Given the description of an element on the screen output the (x, y) to click on. 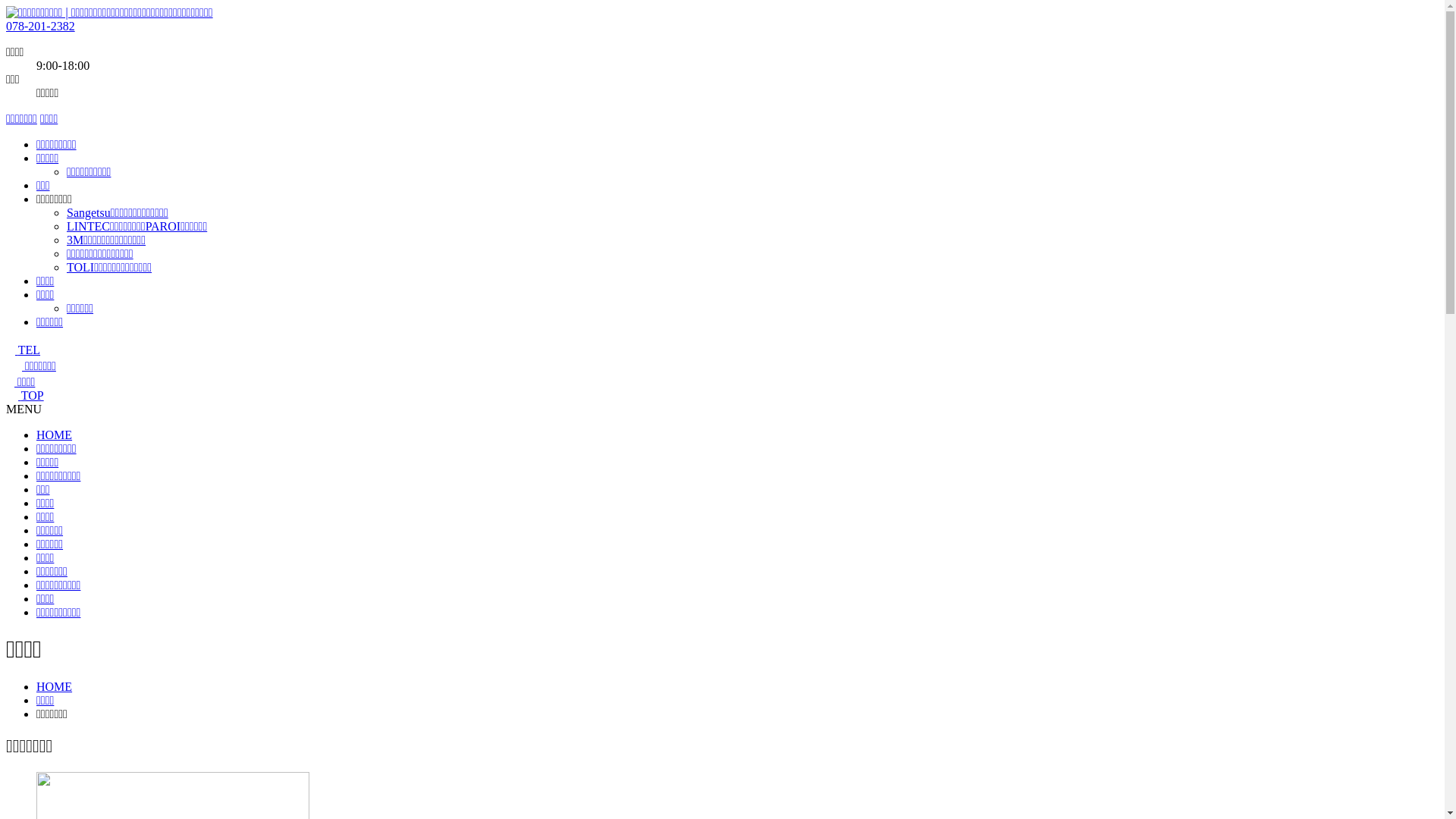
TOP Element type: text (24, 395)
HOME Element type: text (54, 434)
TEL Element type: text (23, 349)
078-201-2382 Element type: text (40, 25)
HOME Element type: text (54, 686)
